Given the description of an element on the screen output the (x, y) to click on. 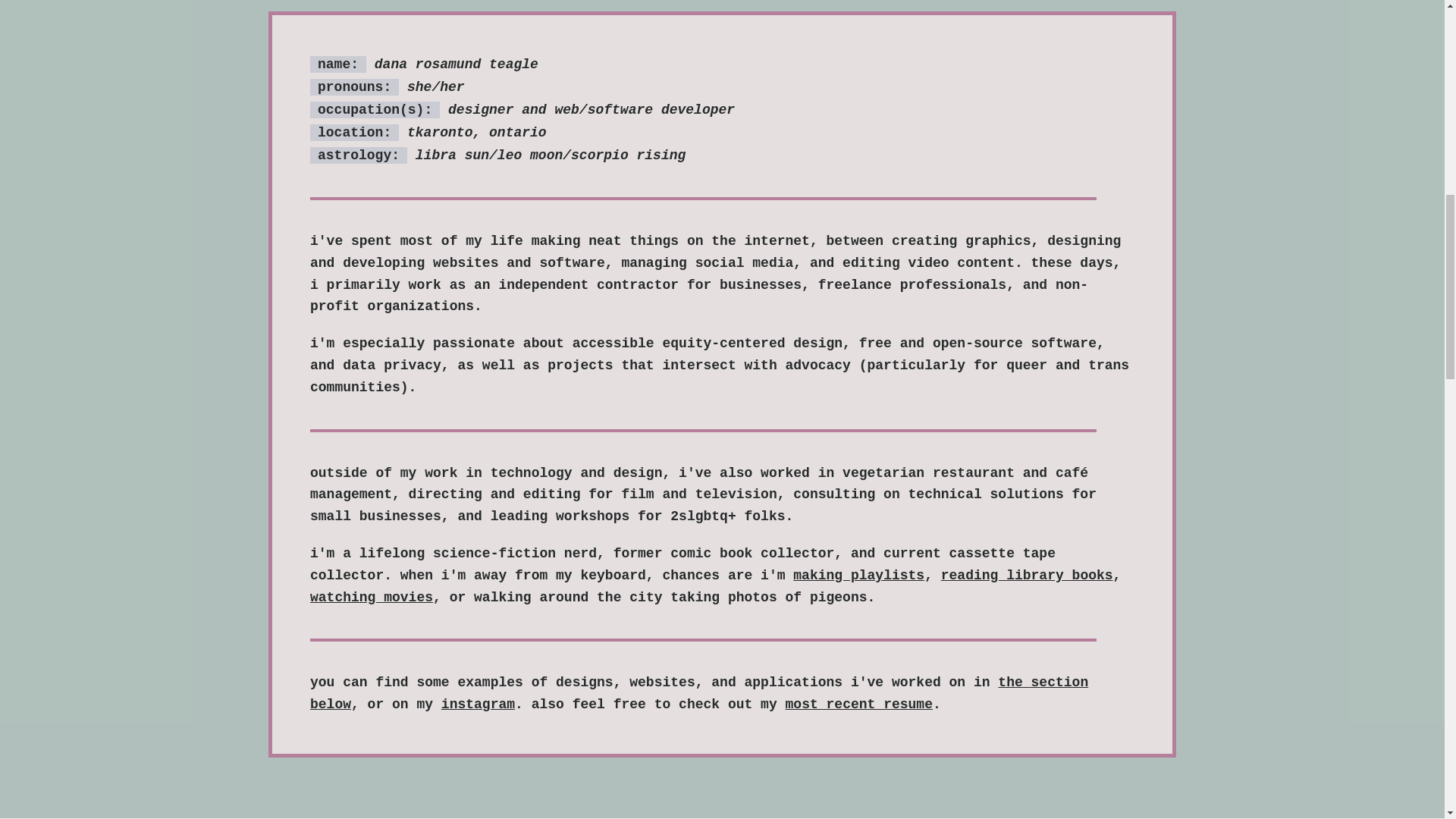
the section below (698, 692)
making playlists (858, 575)
most recent resume (859, 703)
watching movies (371, 597)
Dana's Goodreads profile (1026, 575)
reading library books (1026, 575)
Dana's Spotify profile (858, 575)
Dana's Letterboxd profile (371, 597)
instagram (478, 703)
